Given the description of an element on the screen output the (x, y) to click on. 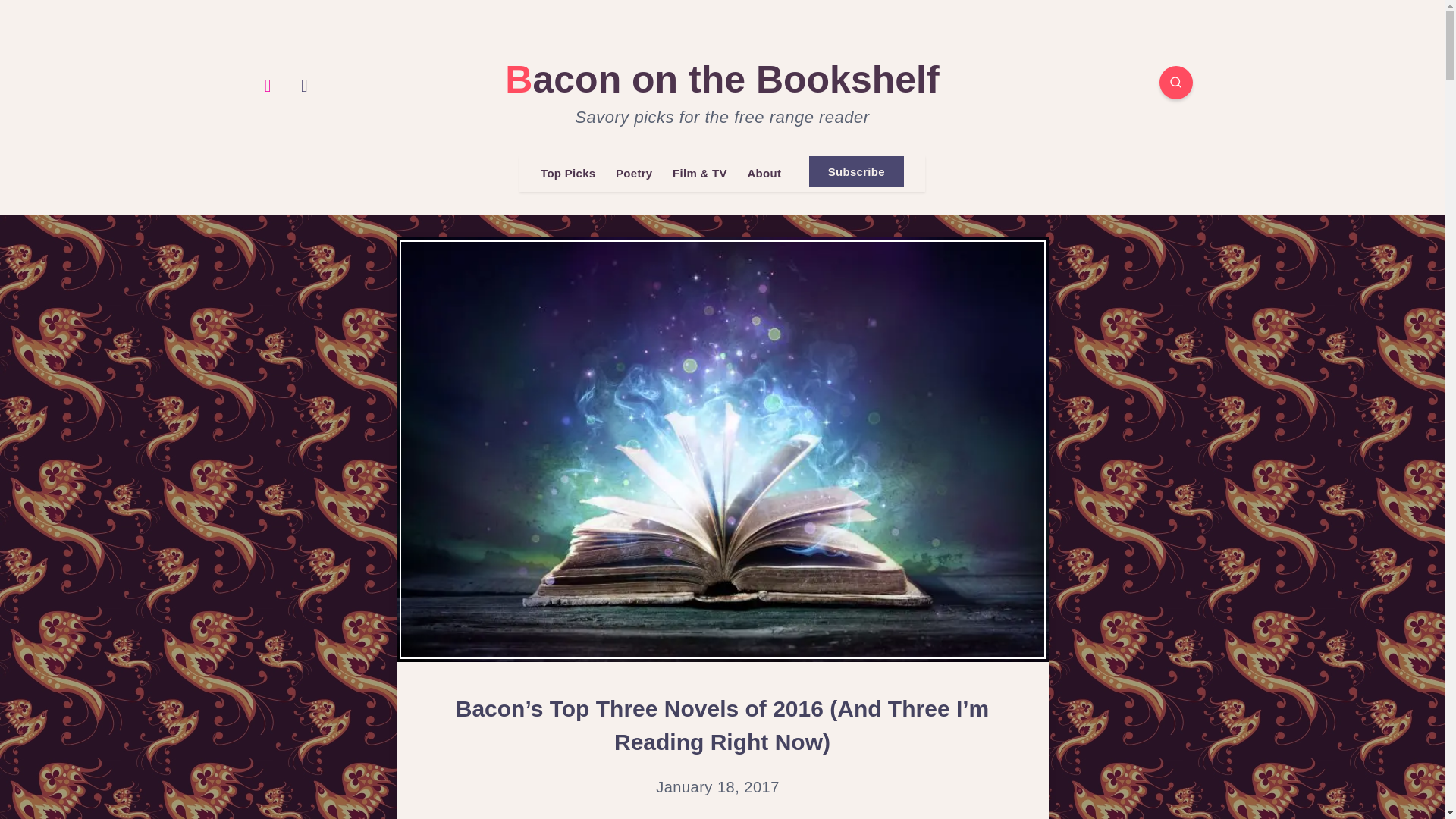
Top Picks (567, 173)
Subscribe (856, 171)
About (763, 173)
Poetry (633, 173)
Bacon on the Bookshelf (722, 79)
